Given the description of an element on the screen output the (x, y) to click on. 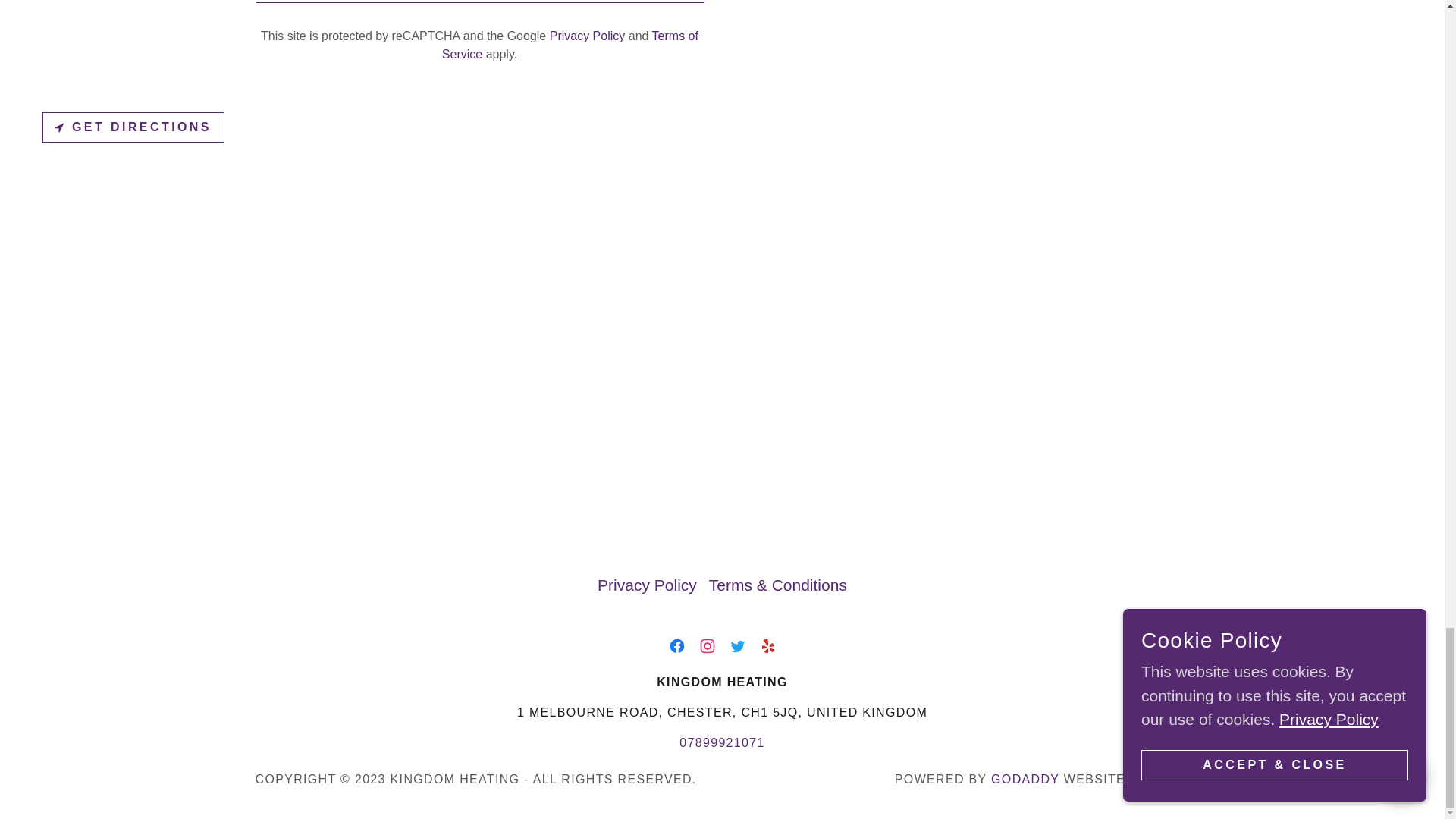
Privacy Policy (588, 35)
Terms of Service (570, 44)
